Given the description of an element on the screen output the (x, y) to click on. 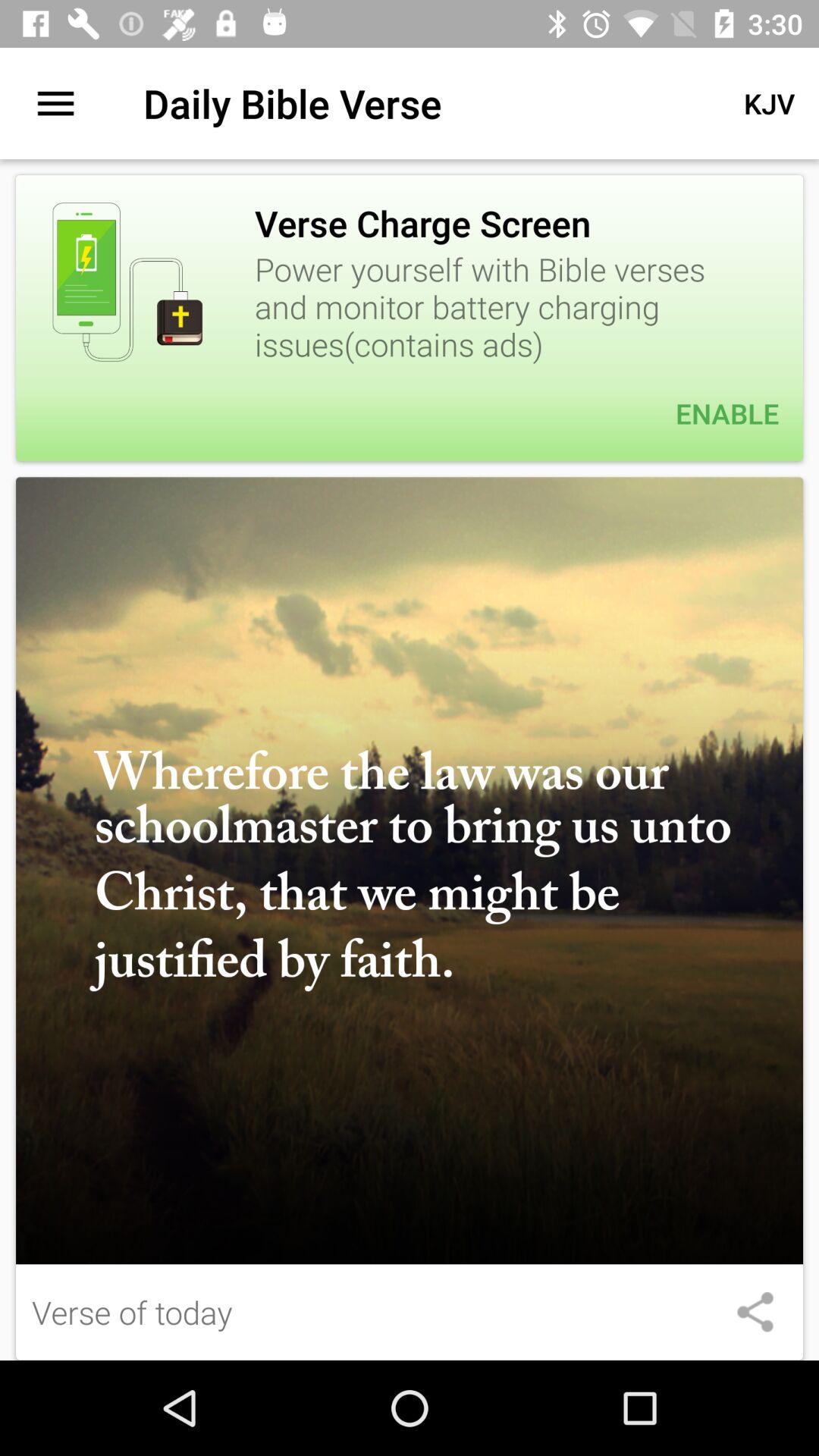
open the app next to the daily bible verse (55, 103)
